Given the description of an element on the screen output the (x, y) to click on. 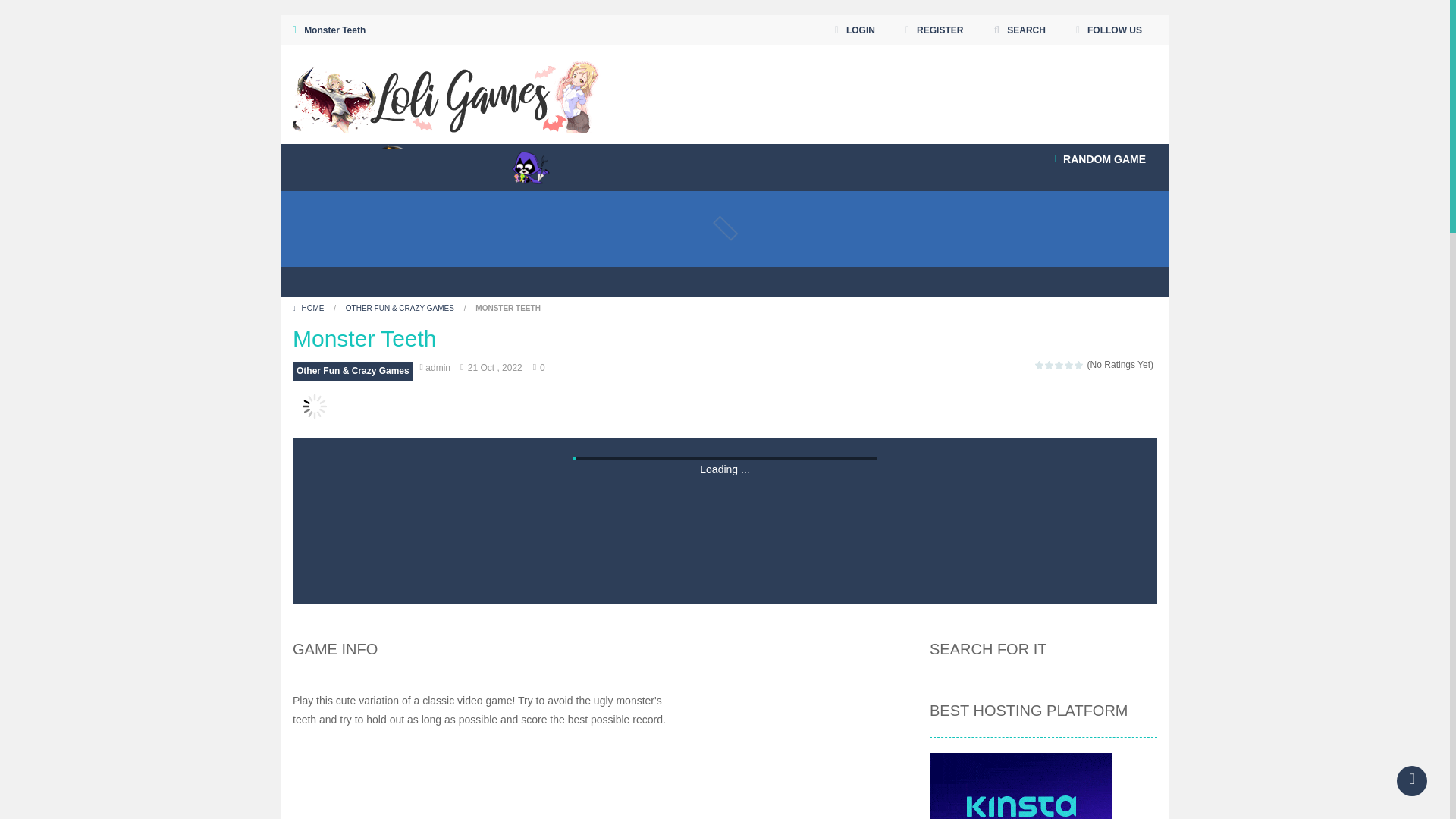
REGISTER (933, 30)
SEARCH (1019, 30)
Loli Games (446, 93)
FOLLOW US (1108, 30)
LOGIN (855, 30)
Play a random game! (1099, 159)
RANDOM GAME (1099, 159)
Loli Games (446, 94)
